Given the description of an element on the screen output the (x, y) to click on. 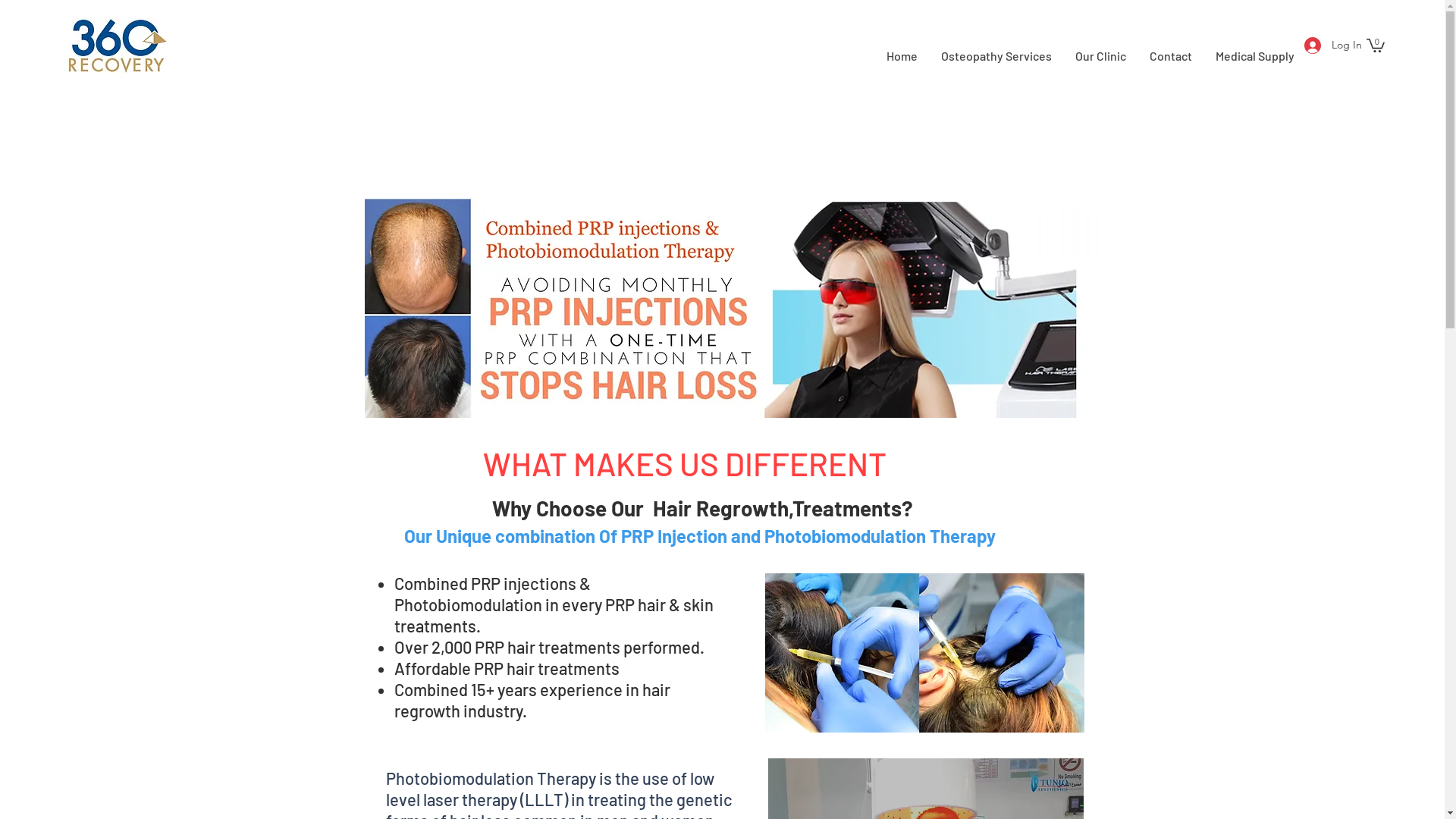
0 Element type: text (1375, 44)
Contact Element type: text (1170, 55)
Osteopathy Services Element type: text (995, 55)
Log In Element type: text (1327, 45)
Home Element type: text (901, 55)
Medical Supply Element type: text (1254, 55)
Our Clinic Element type: text (1100, 55)
